Given the description of an element on the screen output the (x, y) to click on. 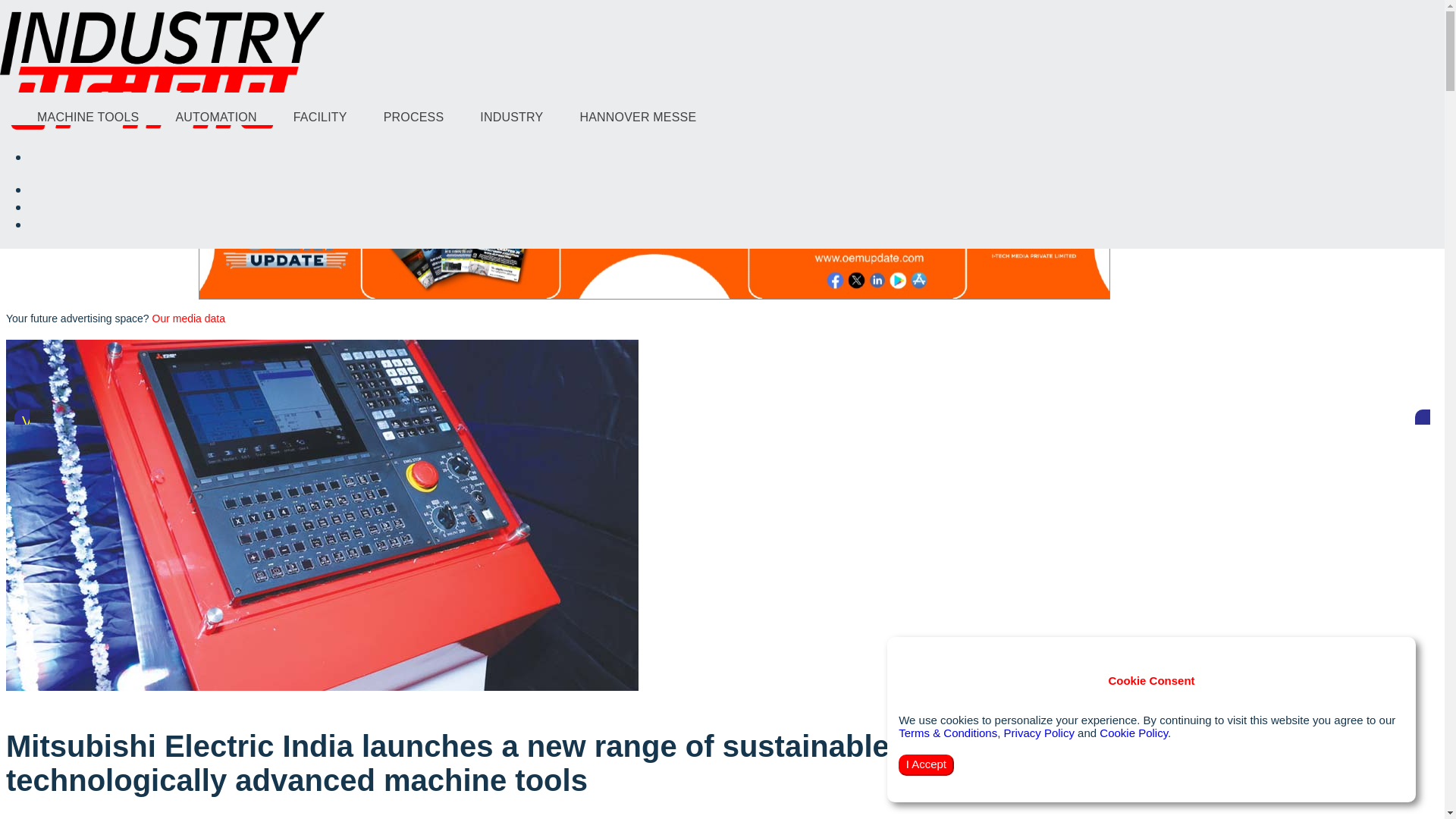
MACHINE TOOLS (87, 116)
FACILITY (320, 116)
AUTOMATION (216, 116)
PROCESS (414, 116)
